Given the description of an element on the screen output the (x, y) to click on. 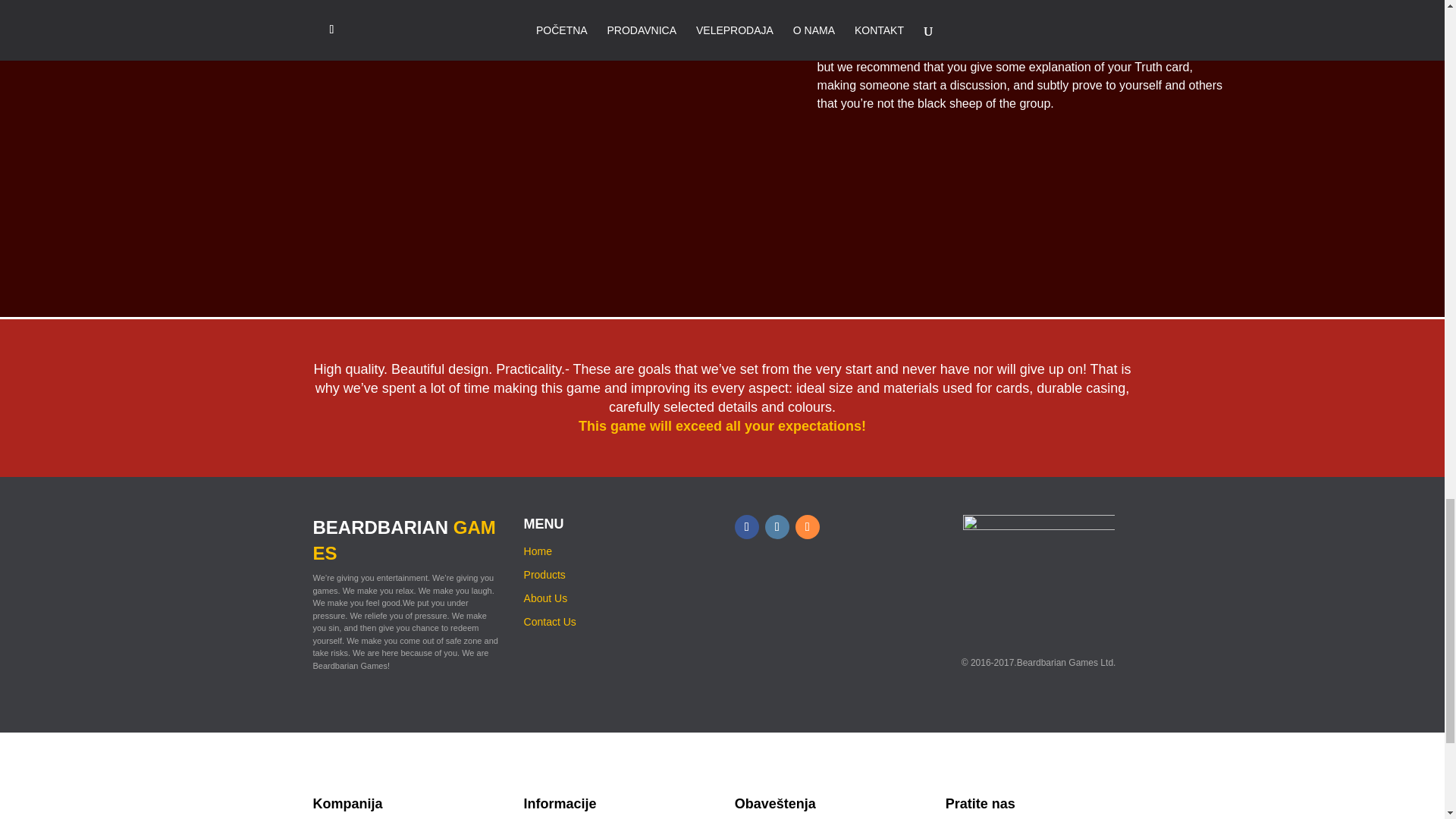
Contact Us (550, 621)
Pratite Instagram (777, 526)
Products (545, 574)
Pratite Facebook (746, 526)
Pratite RSS (806, 526)
Home (537, 551)
About Us (545, 598)
